Given the description of an element on the screen output the (x, y) to click on. 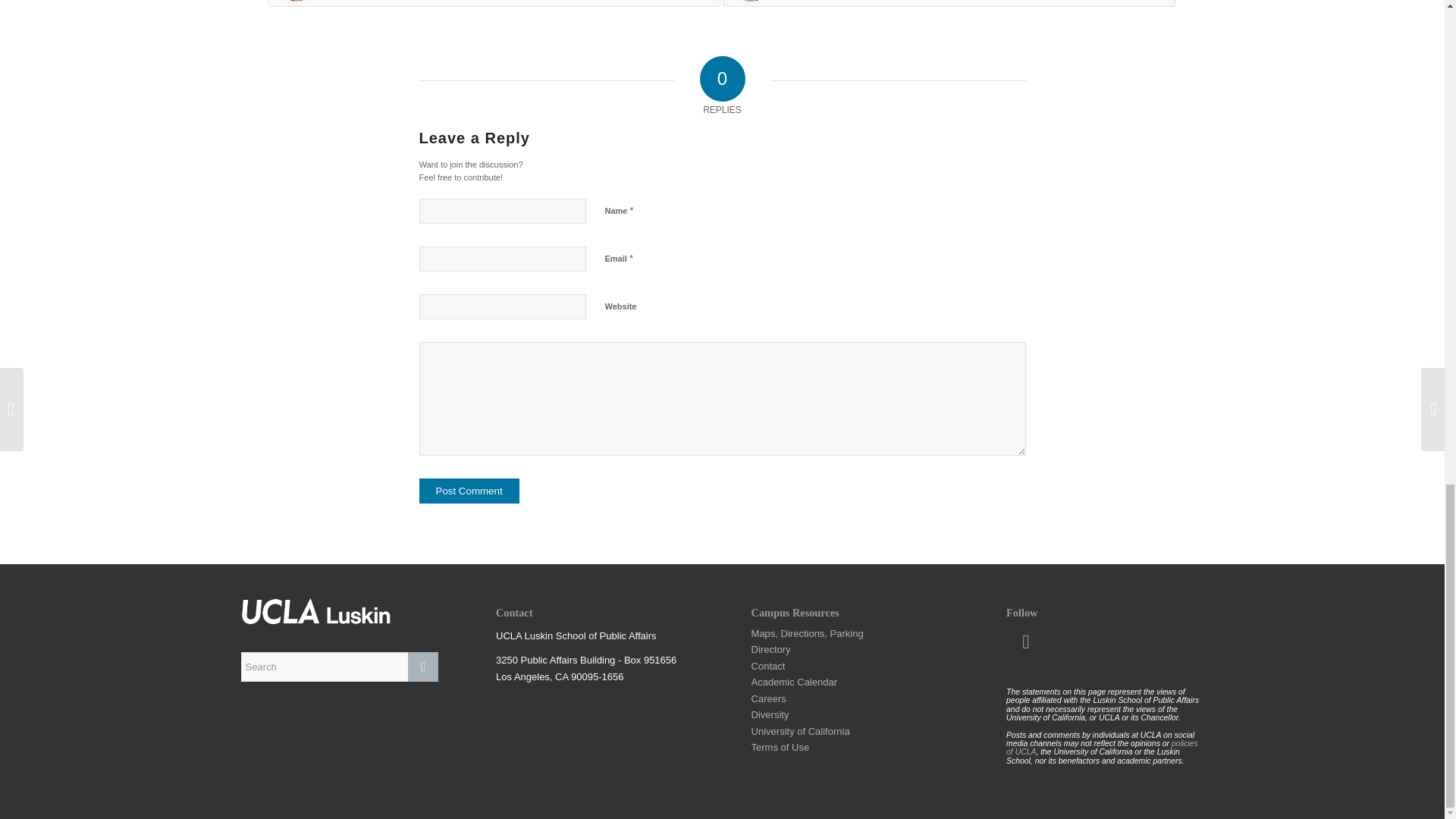
Post Comment (468, 490)
